Given the description of an element on the screen output the (x, y) to click on. 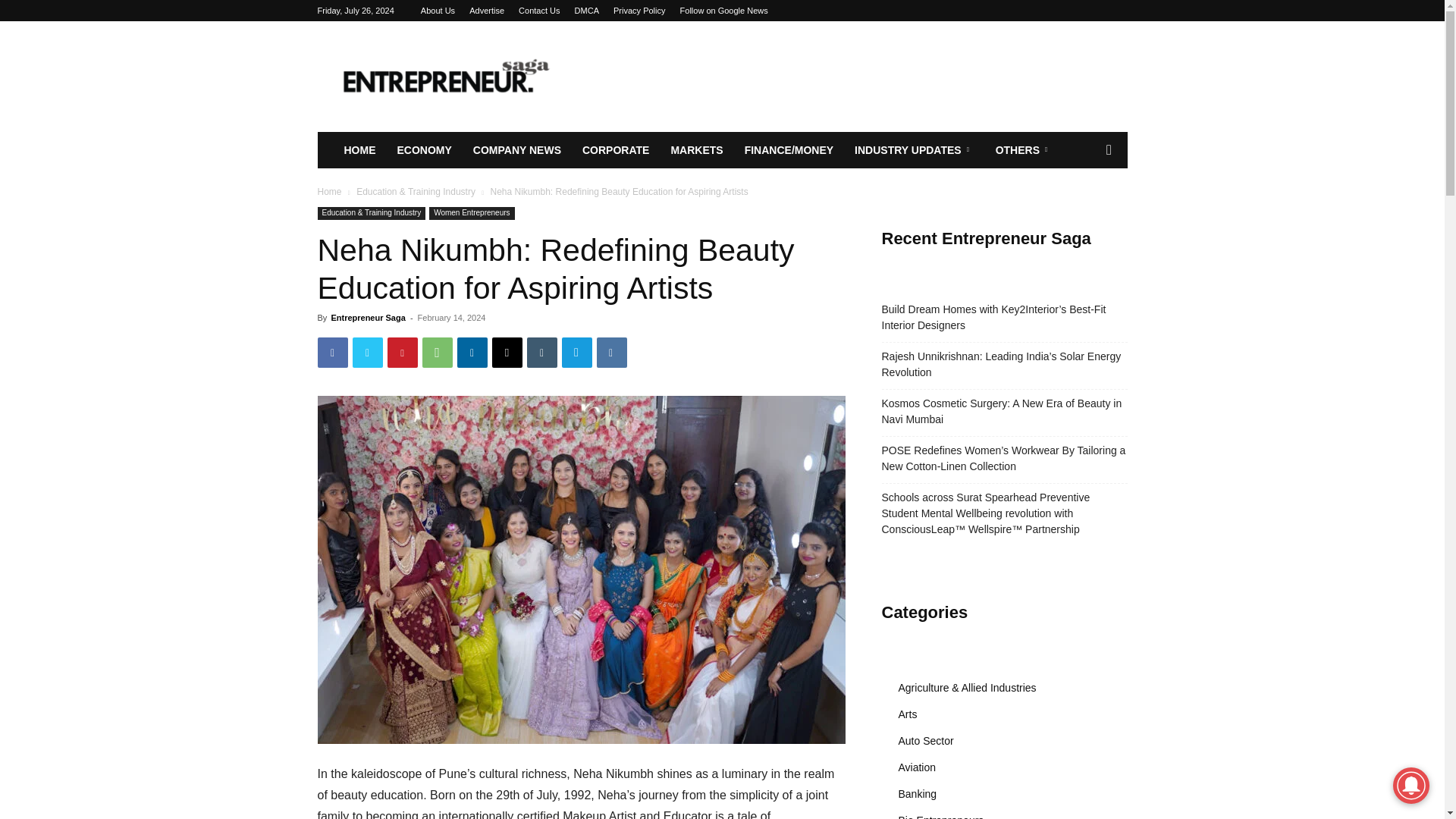
Pinterest (401, 352)
WhatsApp (436, 352)
Email (506, 352)
VK (610, 352)
Facebook (332, 352)
Telegram (575, 352)
Tumblr (540, 352)
Twitter (366, 352)
Linkedin (471, 352)
